Given the description of an element on the screen output the (x, y) to click on. 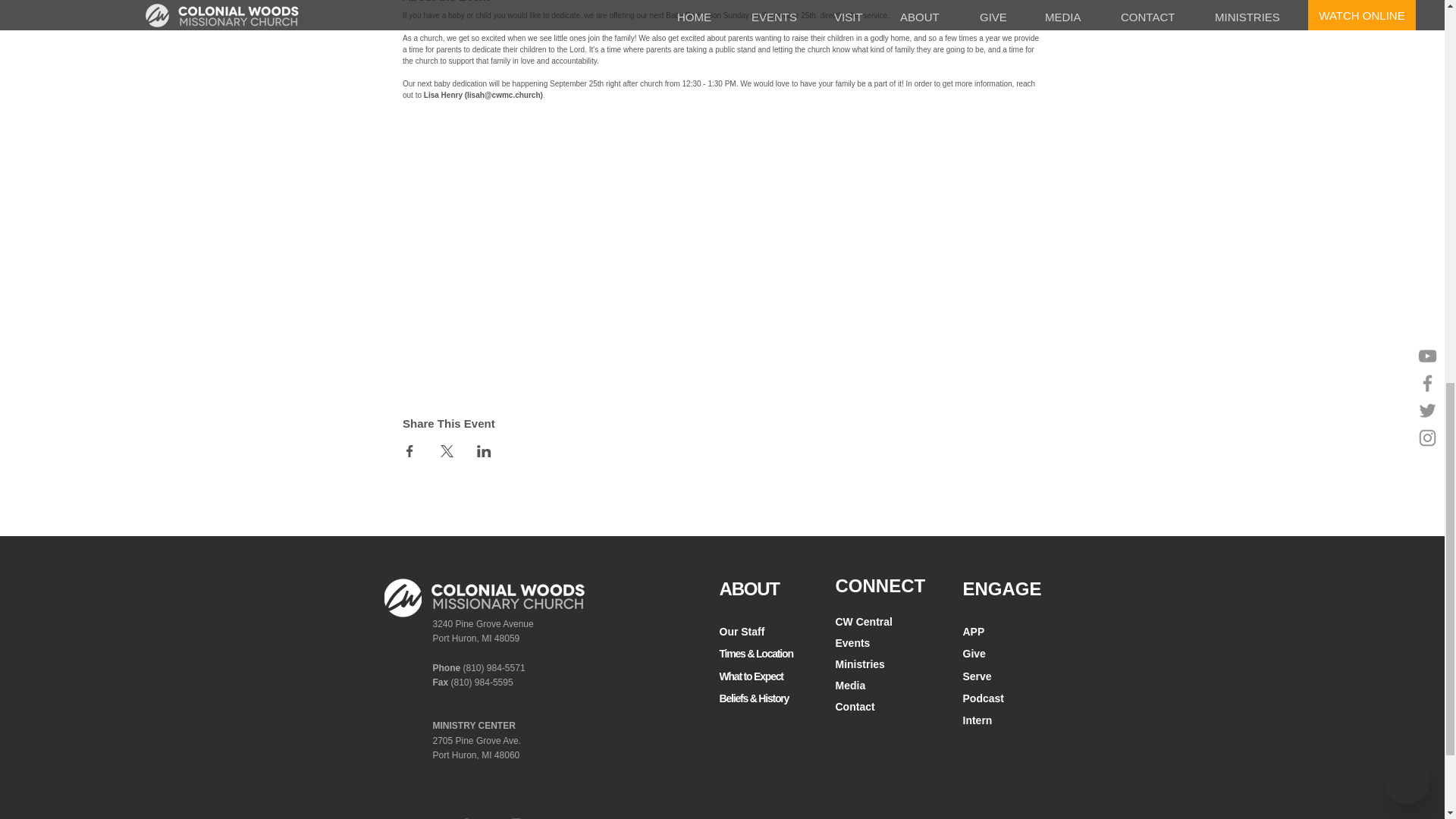
What to Expect (751, 673)
Events (852, 639)
CW Central (863, 619)
Our Staff (741, 629)
